Given the description of an element on the screen output the (x, y) to click on. 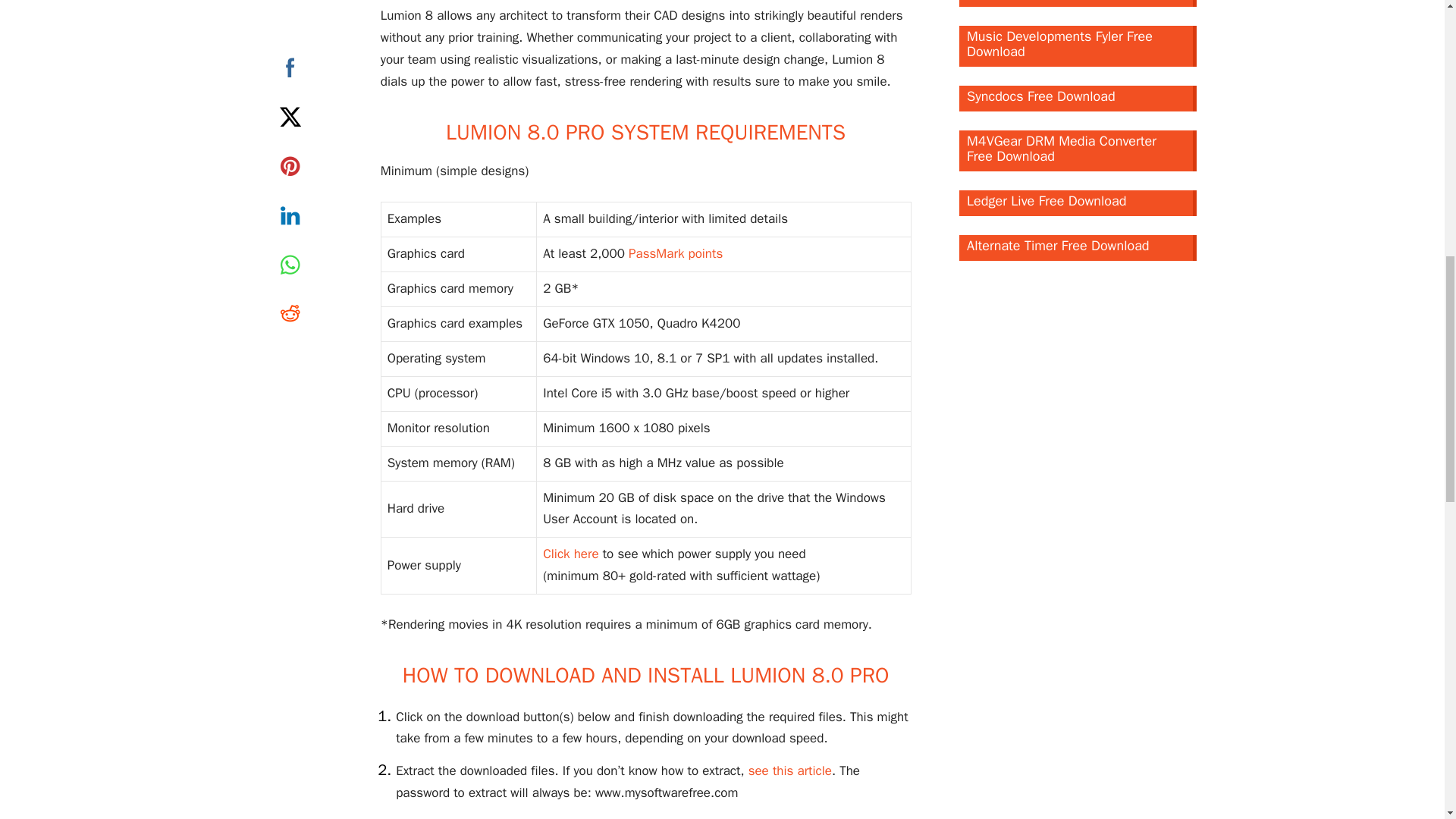
Vsevensoft AAC Player Free Download (1077, 3)
Syncdocs Free Download (1077, 98)
PassMark points (675, 253)
Music Developments Fyler Free Download (1077, 45)
M4VGear DRM Media Converter Free Download (1077, 150)
see this article (789, 770)
Click here (570, 553)
Ledger Live Free Download (1077, 203)
